Given the description of an element on the screen output the (x, y) to click on. 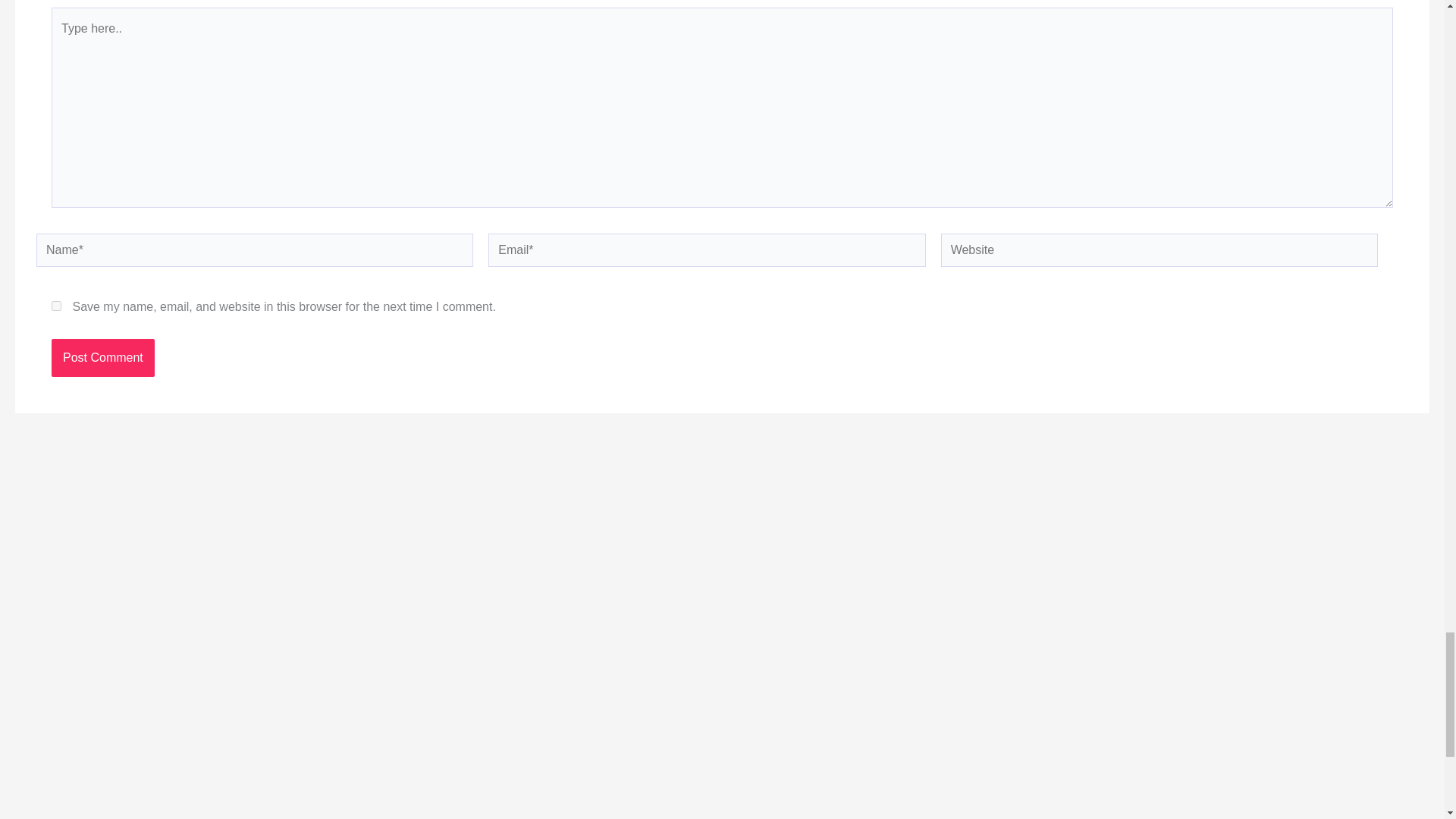
yes (55, 306)
Post Comment (102, 357)
